Given the description of an element on the screen output the (x, y) to click on. 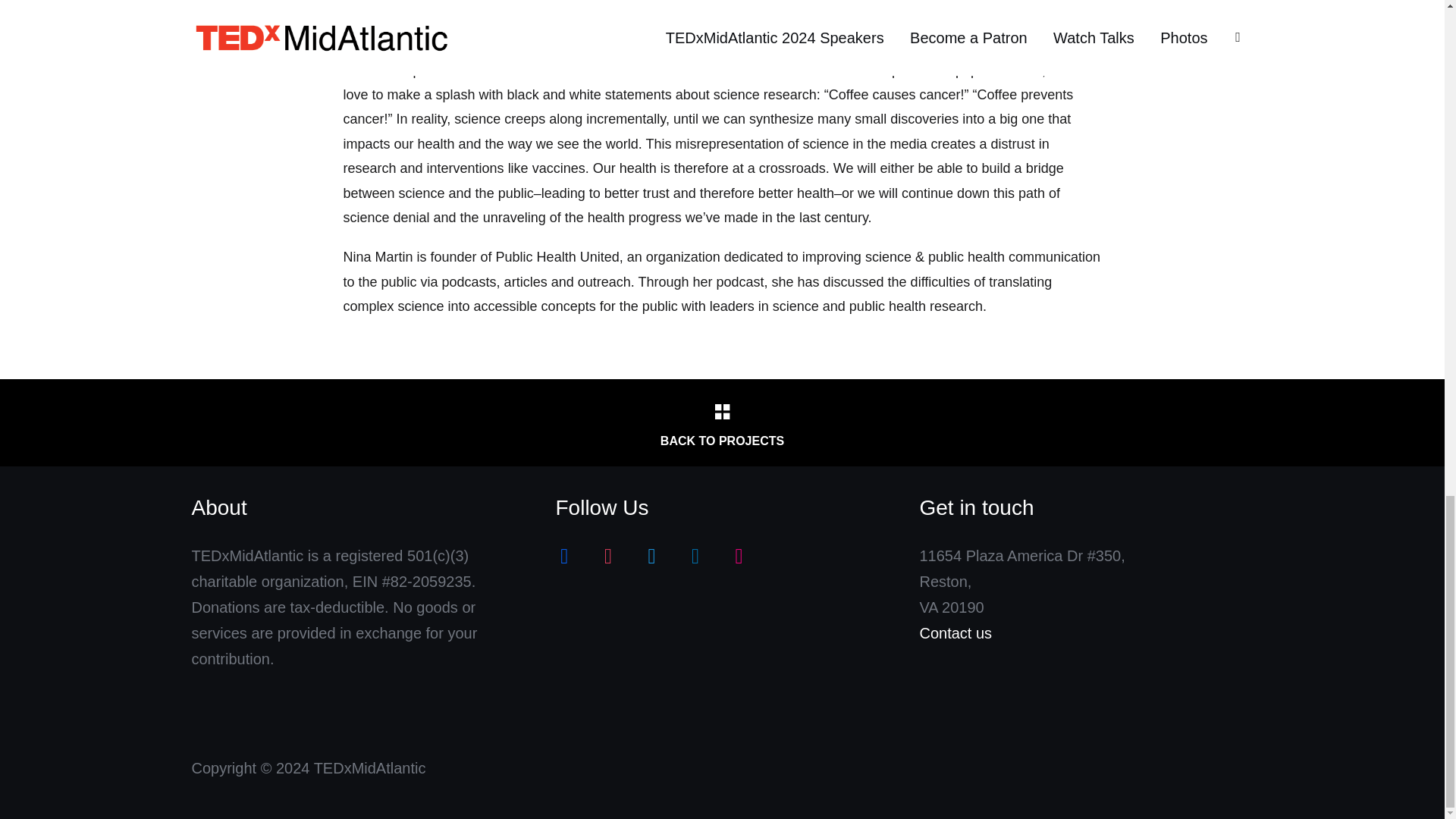
facebook (563, 555)
Follow Me (651, 555)
BACK TO PROJECTS (721, 422)
Friend me on Facebook (563, 555)
instagram (607, 555)
